Given the description of an element on the screen output the (x, y) to click on. 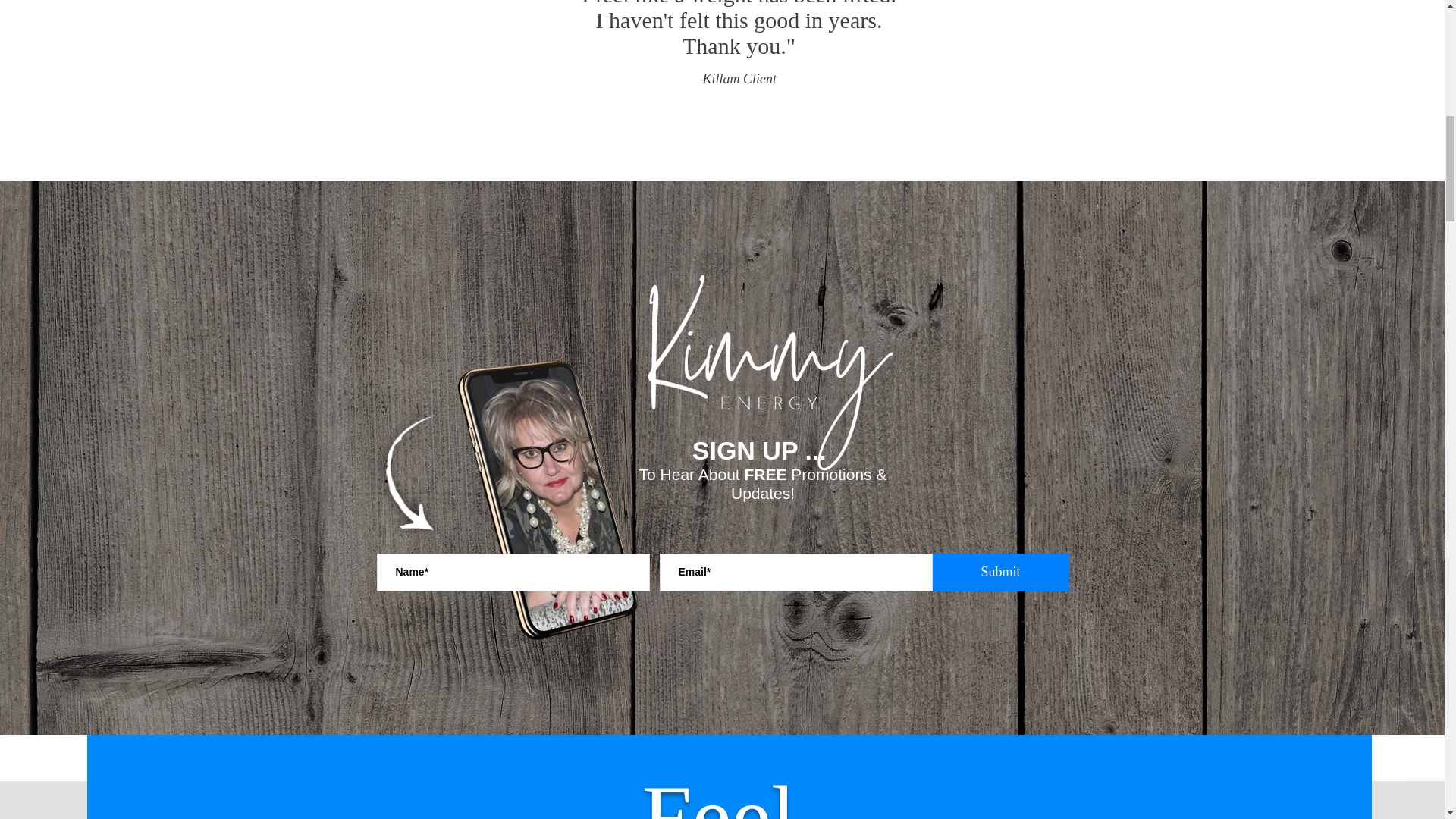
Submit (1000, 572)
